Given the description of an element on the screen output the (x, y) to click on. 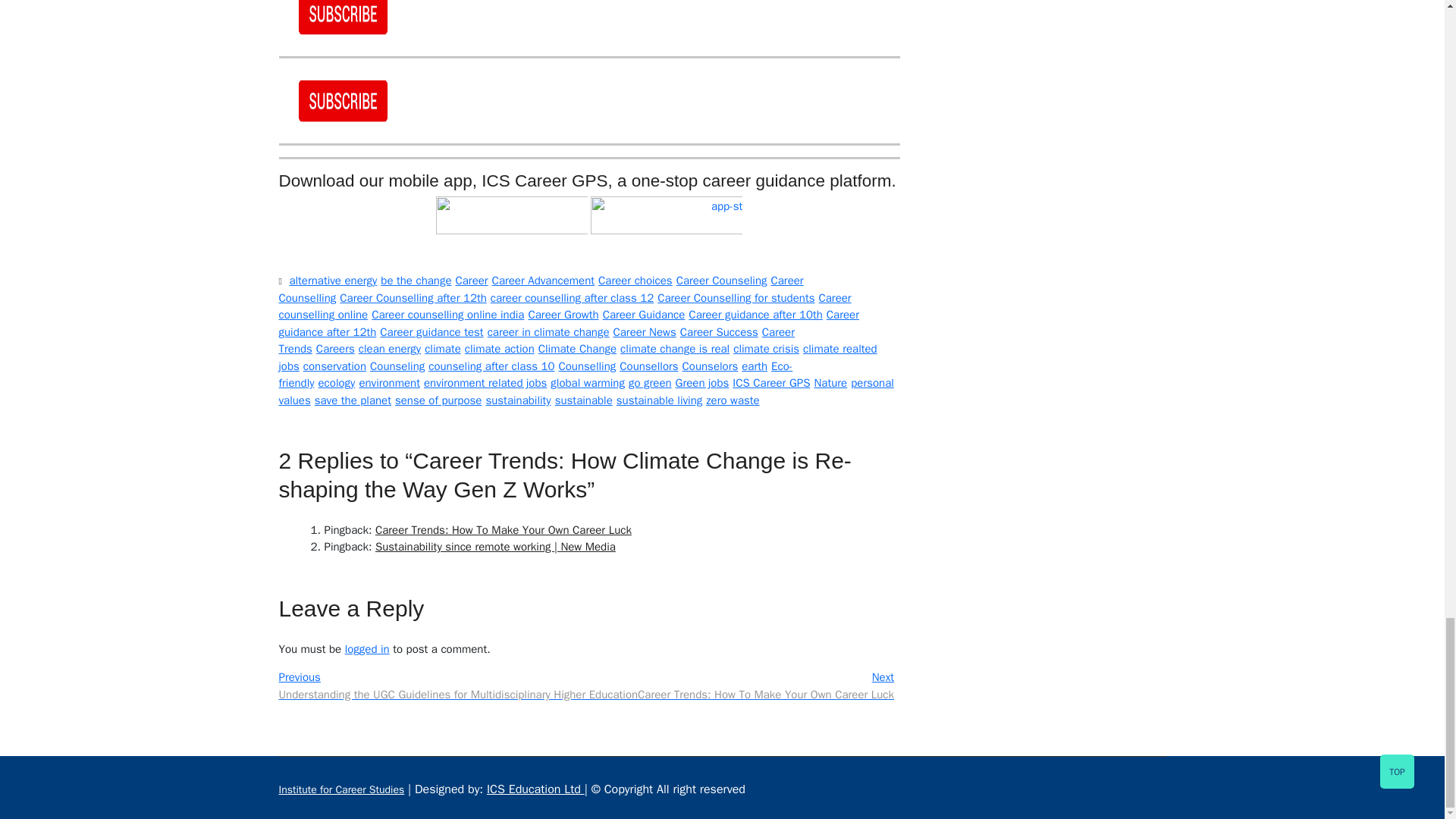
career counselling after class 12 (574, 299)
Career (473, 282)
Career counselling online (565, 308)
Career Counselling (541, 290)
Career Growth (564, 316)
alternative energy (334, 282)
Career counselling online india (449, 316)
Career choices (637, 282)
Careers (336, 350)
Career guidance after 12th (569, 325)
